Given the description of an element on the screen output the (x, y) to click on. 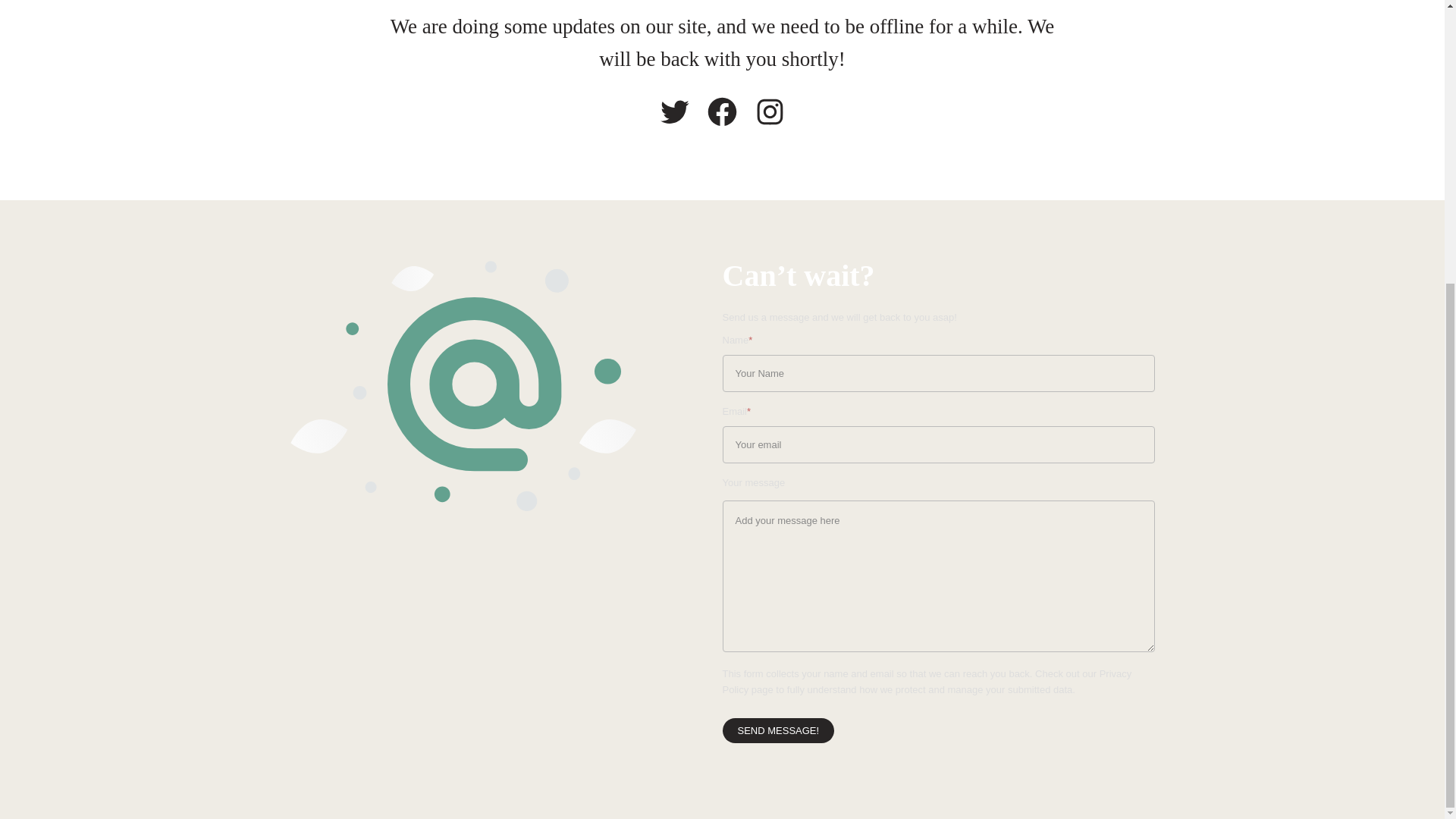
Instagram (769, 111)
SEND MESSAGE! (778, 730)
Facebook (721, 111)
Twitter (674, 111)
Privacy Policy (926, 681)
